Given the description of an element on the screen output the (x, y) to click on. 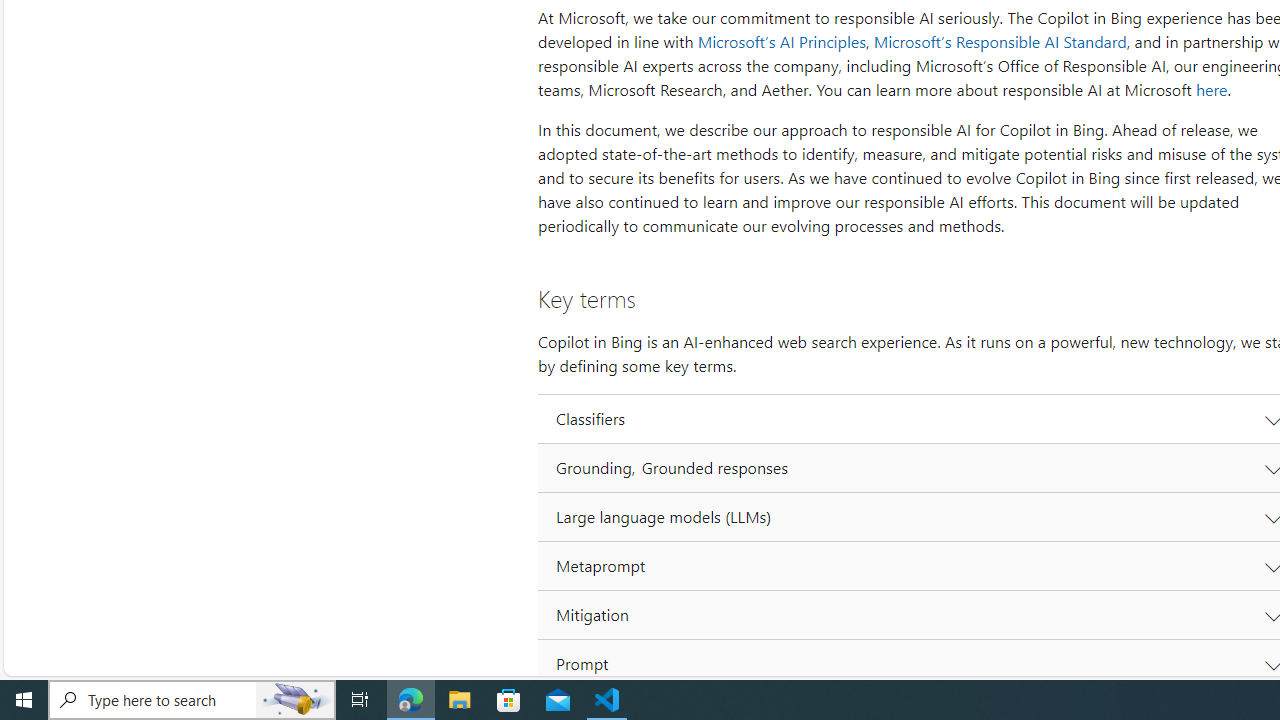
here (1211, 89)
